Given the description of an element on the screen output the (x, y) to click on. 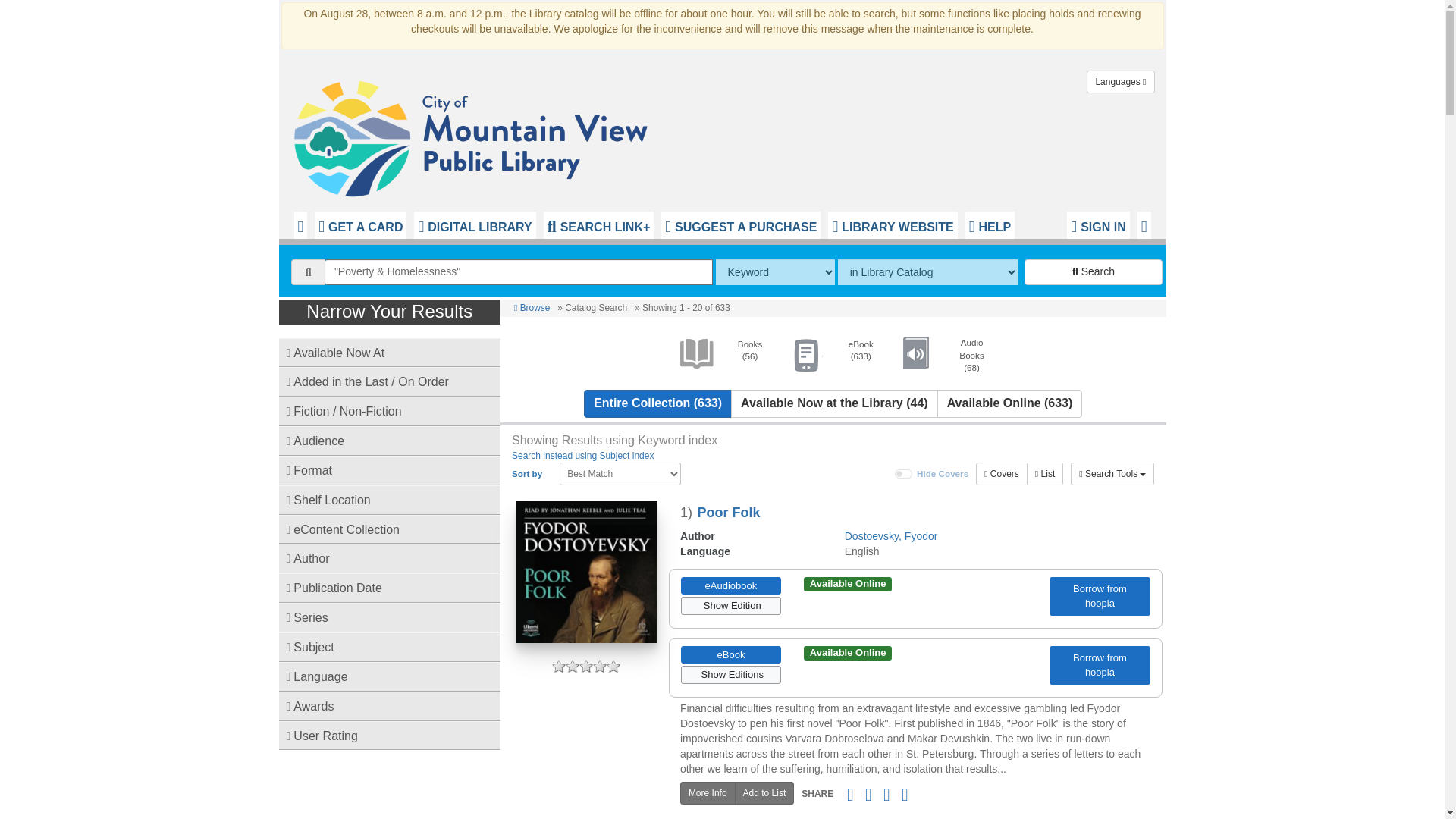
Languages  (1120, 81)
HELP (989, 225)
The method of searching. (775, 272)
LIBRARY WEBSITE (892, 225)
SIGN IN (1098, 225)
 Search (1093, 272)
on (903, 473)
GET A CARD (360, 225)
DIGITAL LIBRARY (474, 225)
